Given the description of an element on the screen output the (x, y) to click on. 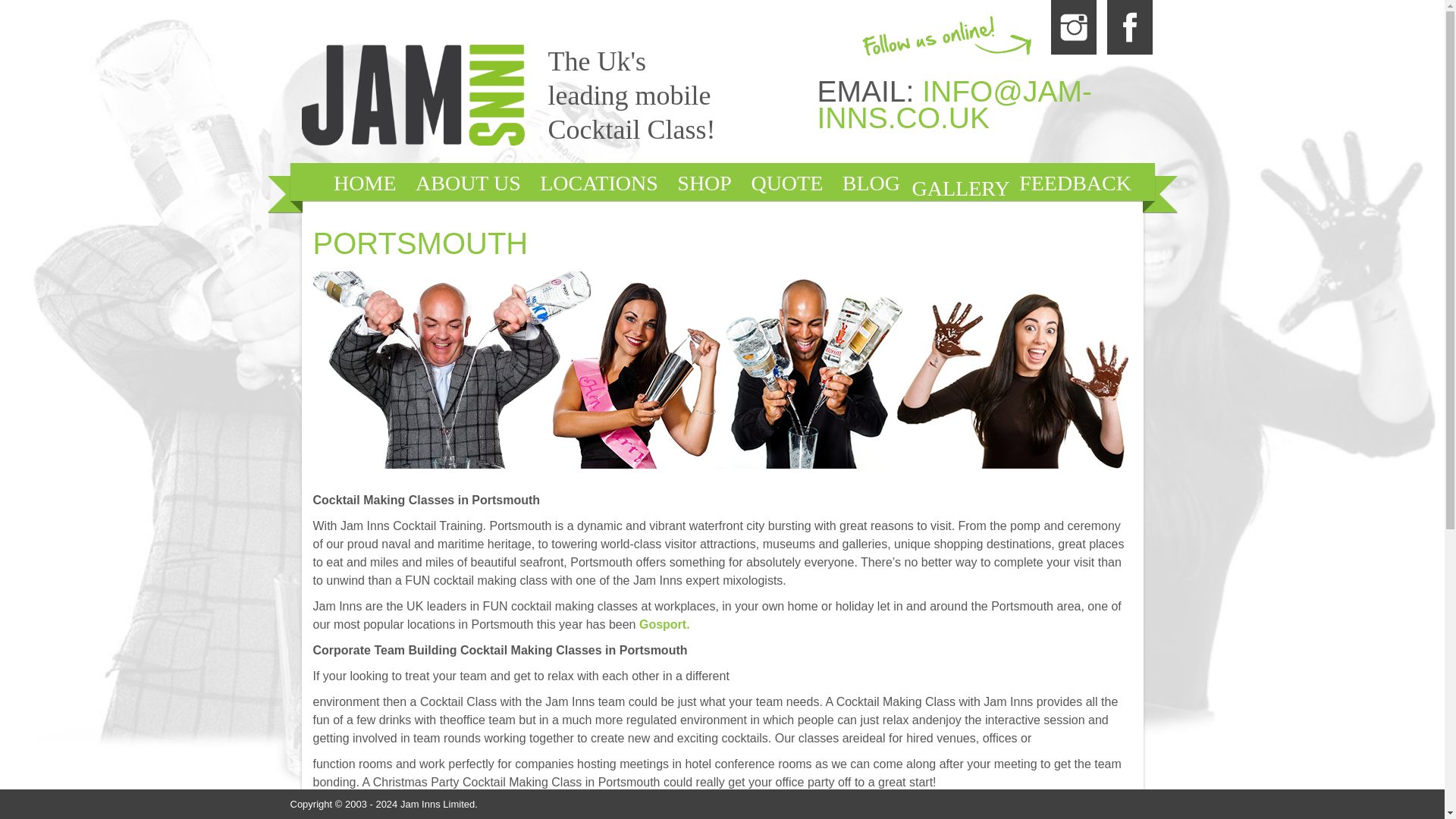
QUOTE (785, 183)
Gosport (664, 624)
ABOUT US (467, 183)
SHOP (704, 183)
HOME (364, 183)
FEEDBACK (1074, 183)
CONTACT US (762, 218)
BLOG (870, 183)
FAQ (656, 218)
Gosport. (664, 624)
LOCATIONS (598, 183)
GALLERY (961, 187)
